Given the description of an element on the screen output the (x, y) to click on. 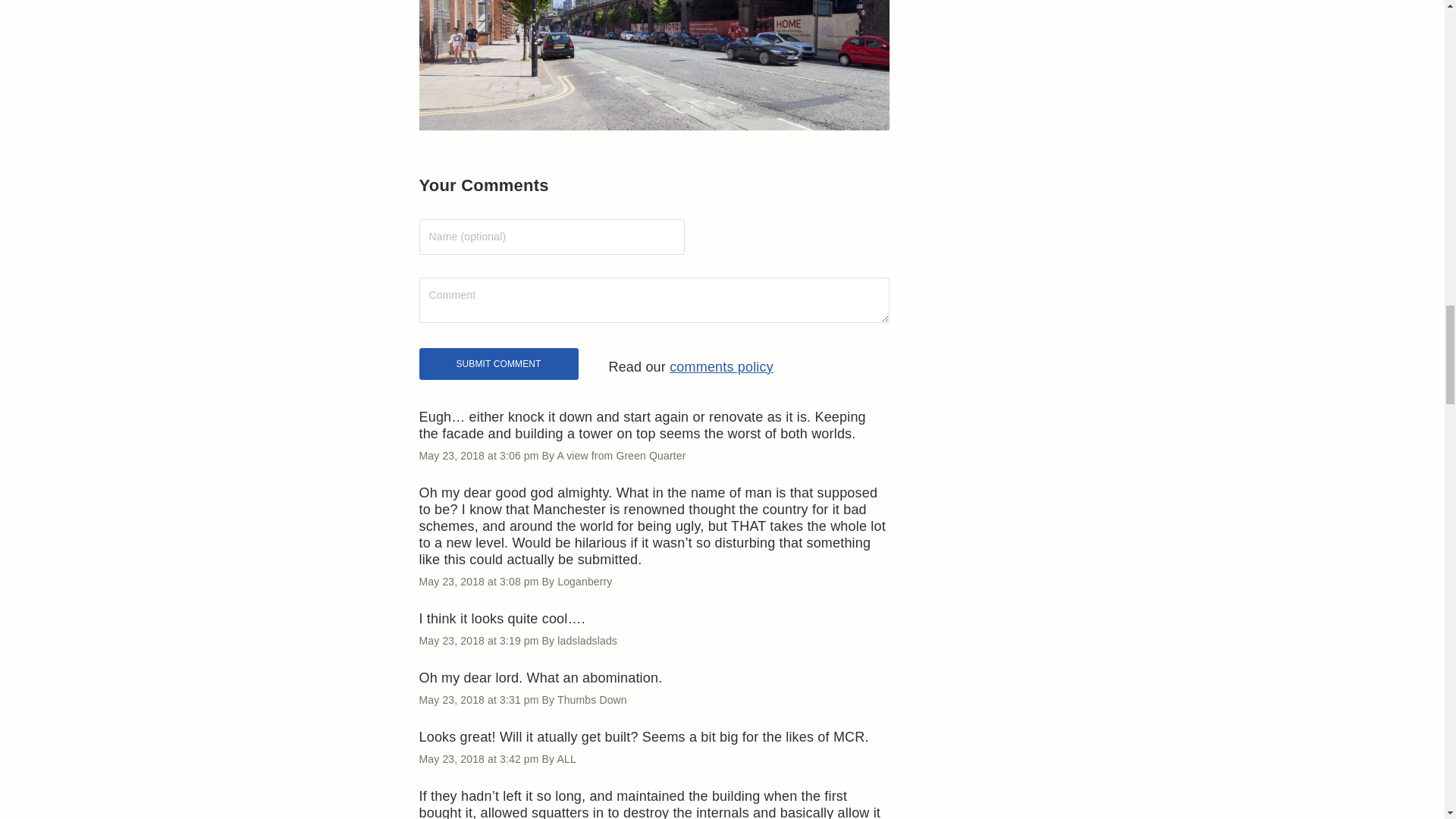
Submit Comment (498, 364)
